Given the description of an element on the screen output the (x, y) to click on. 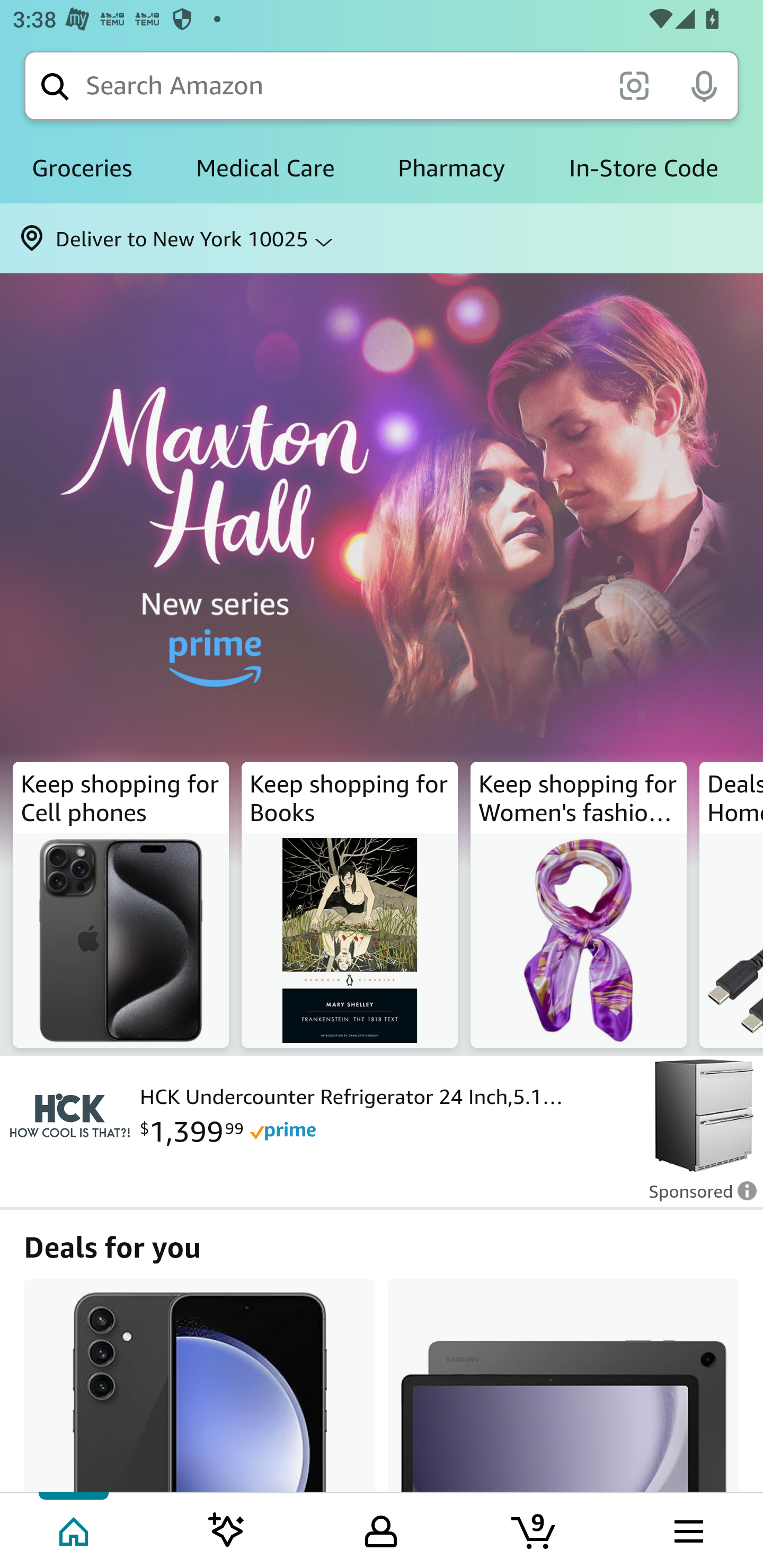
scan it (633, 85)
Groceries (82, 168)
Medical Care (265, 168)
Pharmacy (451, 168)
In-Store Code (643, 168)
Deliver to New York 10025 ⌵ (381, 237)
Keep shopping for Books Keep shopping for Books (349, 904)
Leave feedback on Sponsored ad Sponsored  (696, 1196)
Home Tab 1 of 5 (75, 1529)
Inspire feed Tab 2 of 5 (227, 1529)
Your Amazon.com Tab 3 of 5 (380, 1529)
Cart 9 items Tab 4 of 5 9 (534, 1529)
